Given the description of an element on the screen output the (x, y) to click on. 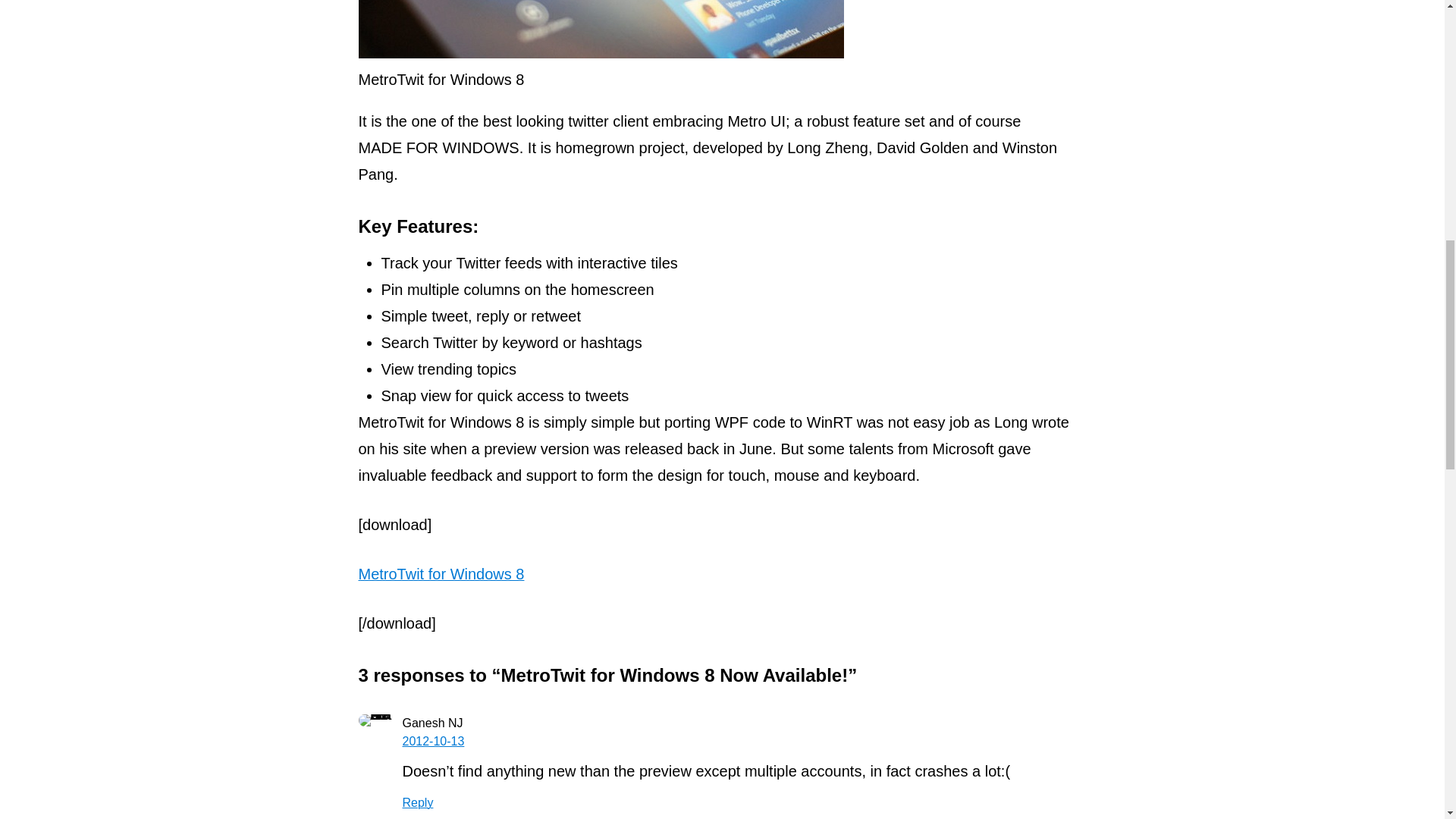
MetroTwit for Windows 8 (600, 29)
2012-10-13 (432, 740)
Reply (416, 802)
MetroTwit for Windows 8 (441, 573)
